Given the description of an element on the screen output the (x, y) to click on. 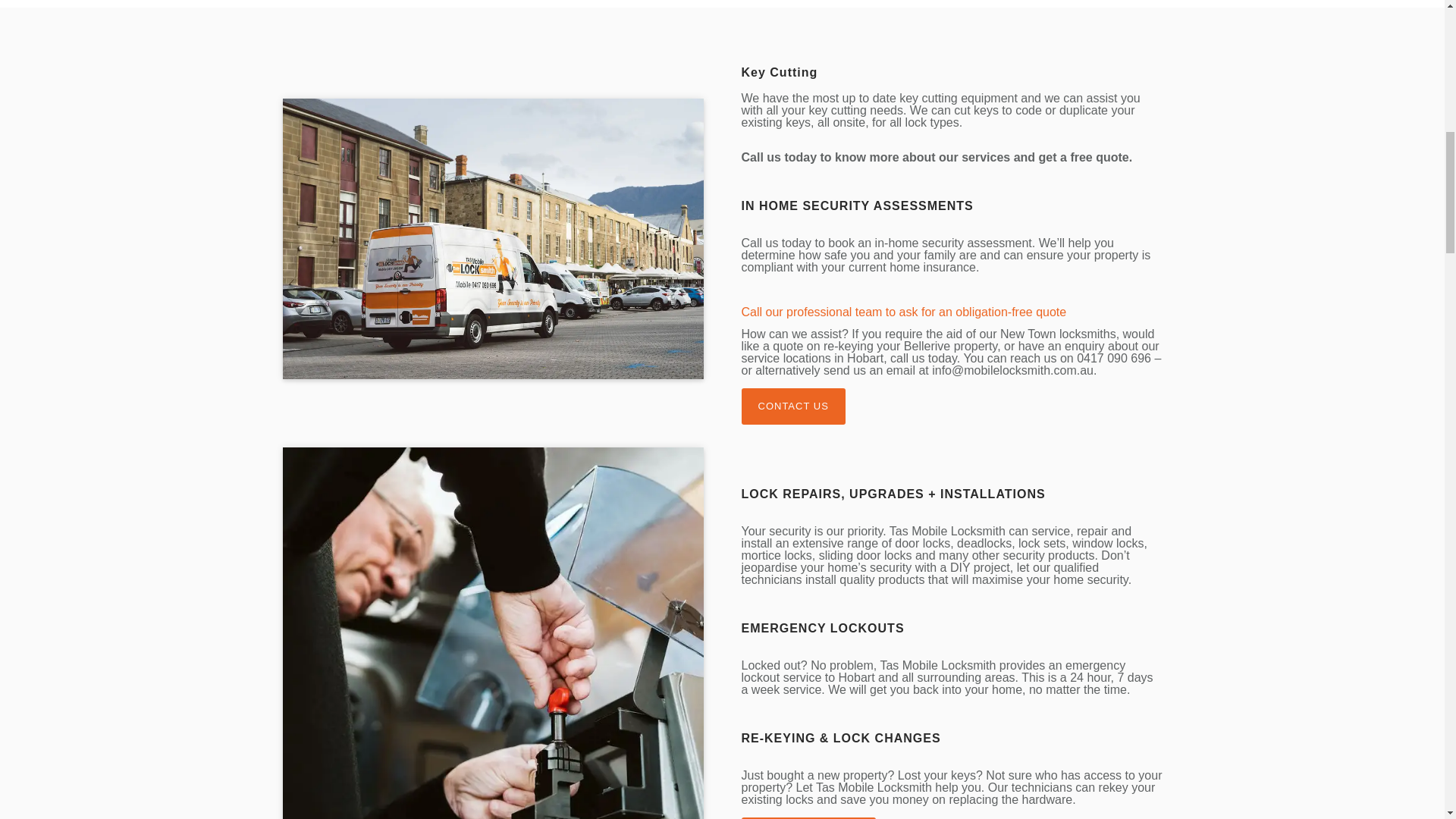
EMERGENCY CALL (808, 818)
CONTACT US (793, 406)
